Given the description of an element on the screen output the (x, y) to click on. 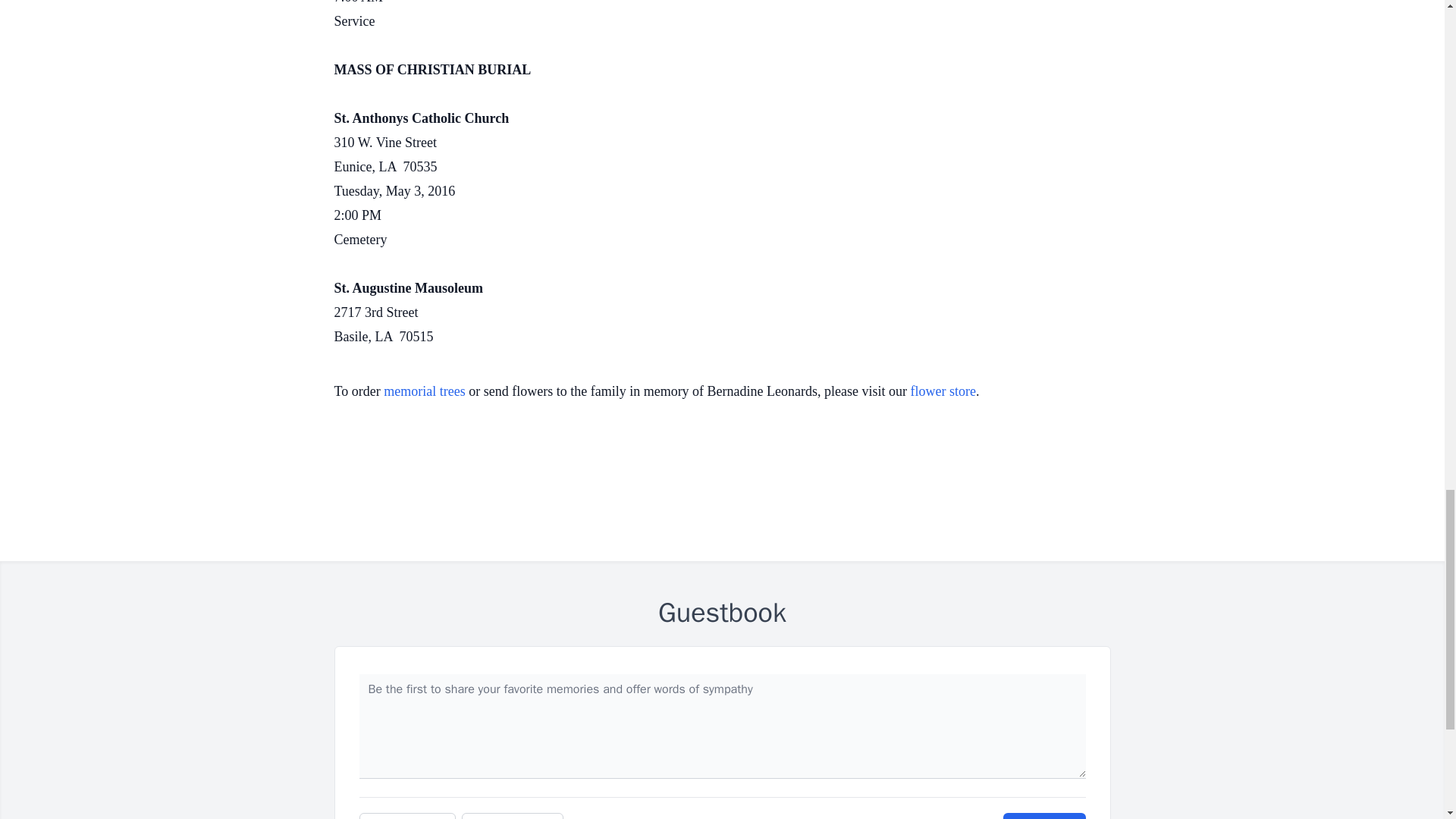
Light Candle (512, 816)
Add Photos (407, 816)
memorial trees (424, 391)
Submit Post (1043, 816)
flower store (943, 391)
